Given the description of an element on the screen output the (x, y) to click on. 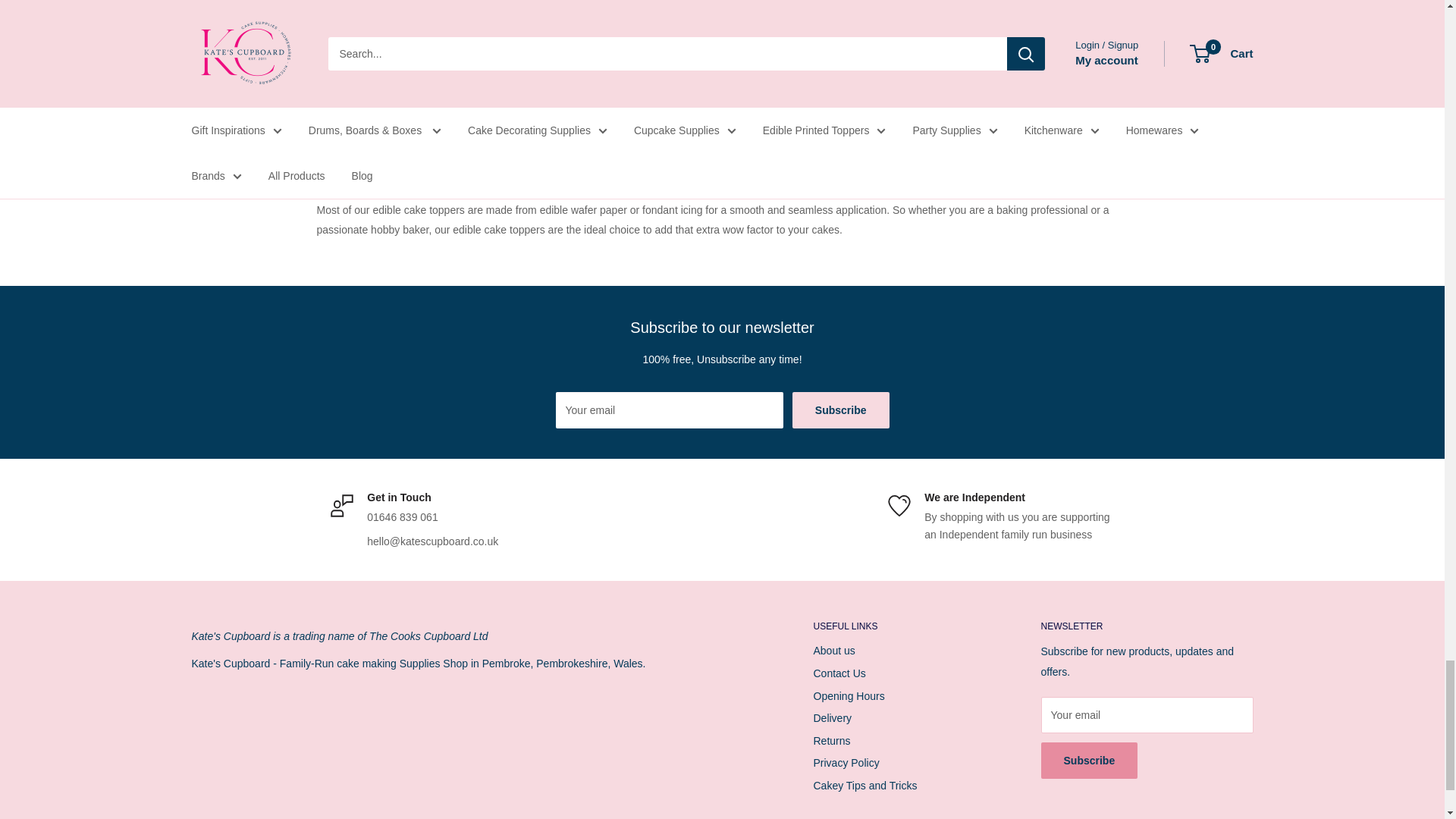
Navigate to page 4 (850, 12)
Navigate to page 37 (907, 12)
Next (1209, 12)
Navigate to page 3 (824, 12)
Previous (486, 12)
Navigate to page 1 (774, 12)
